Given the description of an element on the screen output the (x, y) to click on. 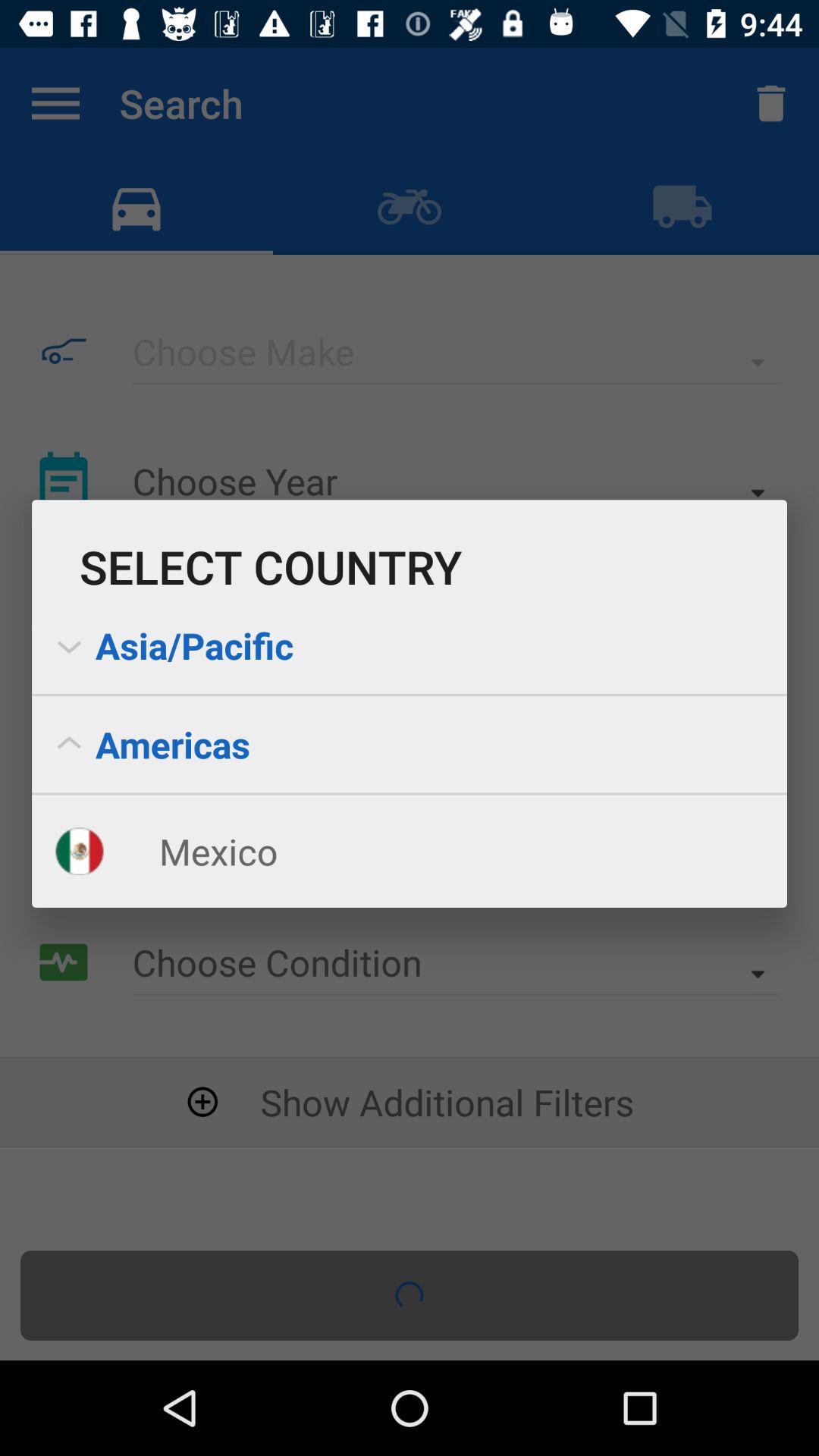
select the flag which is beside mexico (63, 832)
